Given the description of an element on the screen output the (x, y) to click on. 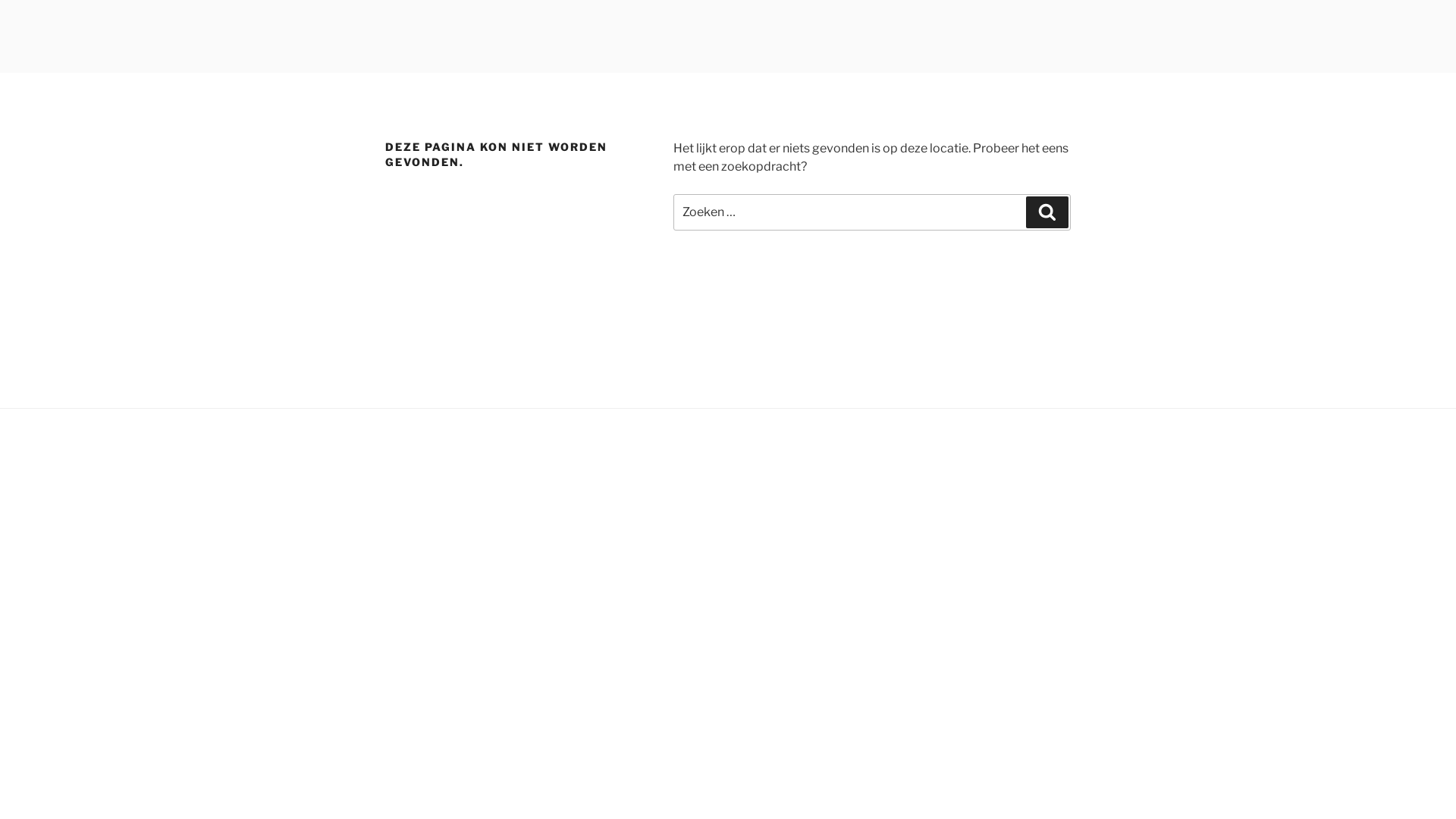
Zoeken Element type: text (1047, 212)
